Given the description of an element on the screen output the (x, y) to click on. 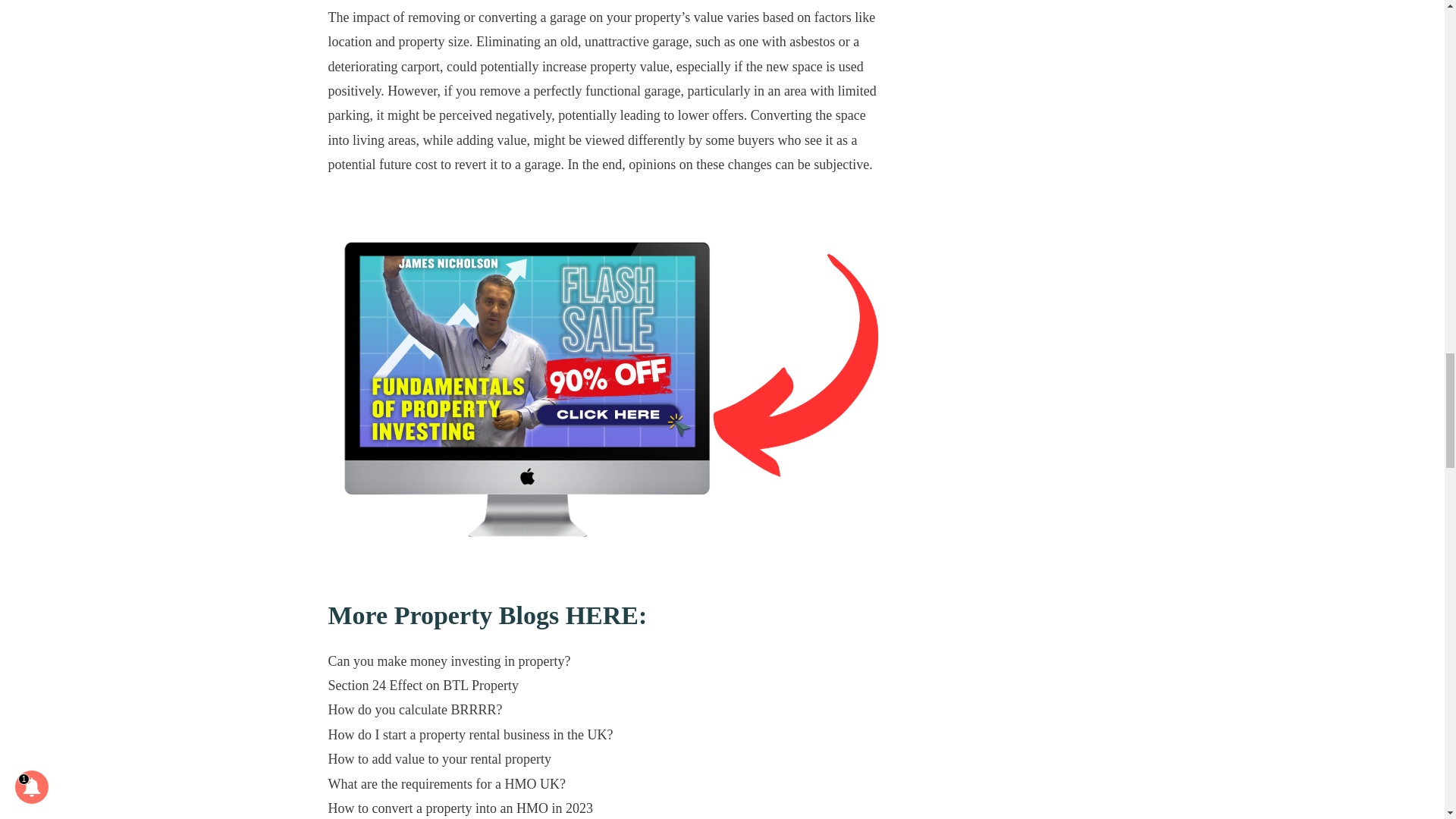
How to convert a property into an HMO in 2023 (459, 807)
Can you make money investing in property? (448, 661)
Can you make money investing in property? (448, 661)
What are the requirements for a HMO UK? (445, 783)
Section 24 Effect on BTL Property (422, 685)
How do you calculate BRRRR? (414, 709)
How to add value to your rental property (438, 758)
How do I start a property rental business in the UK? (469, 734)
